Given the description of an element on the screen output the (x, y) to click on. 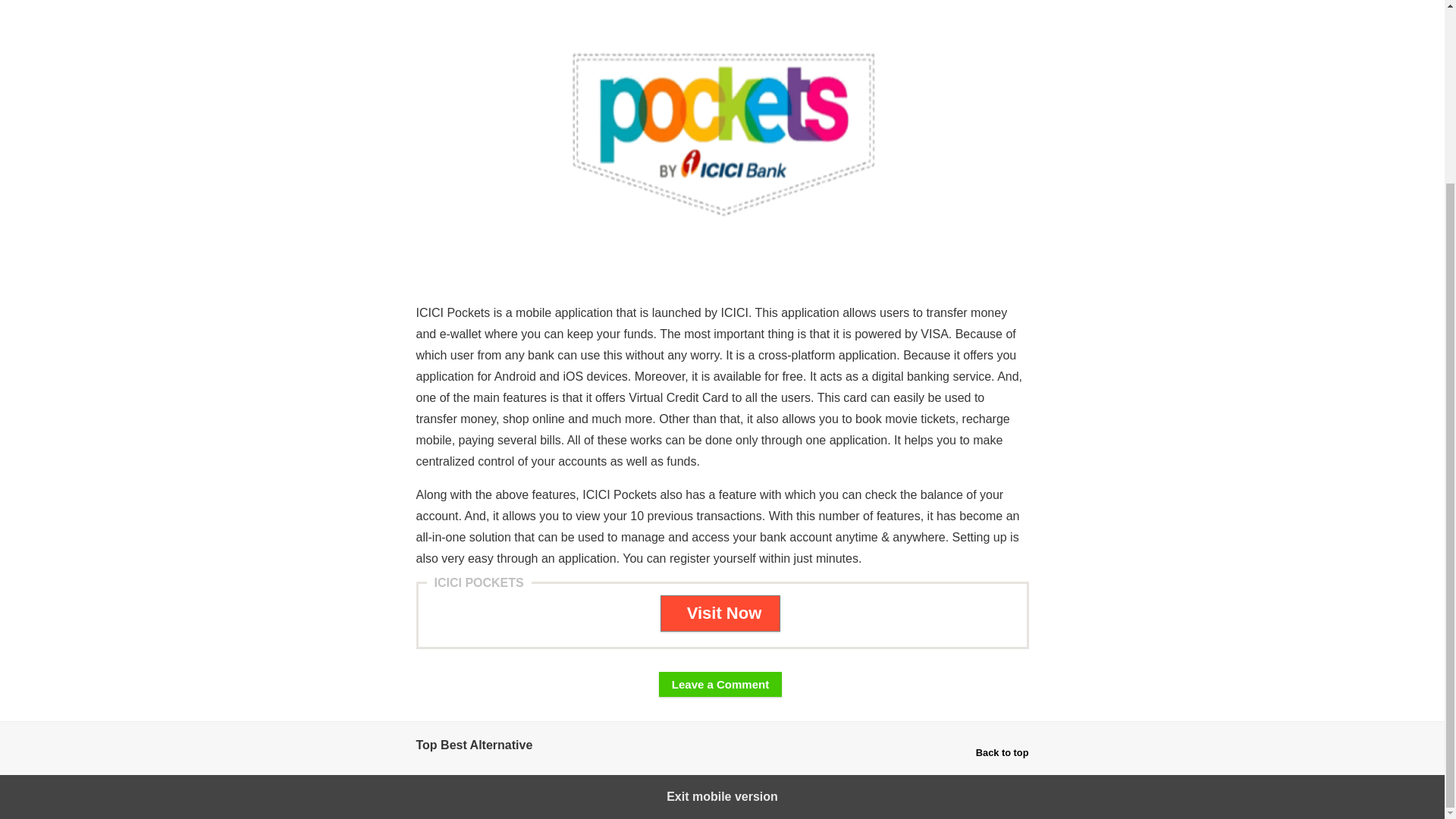
Leave a Comment (720, 683)
Visit Now (720, 613)
Back to top (1002, 752)
